Given the description of an element on the screen output the (x, y) to click on. 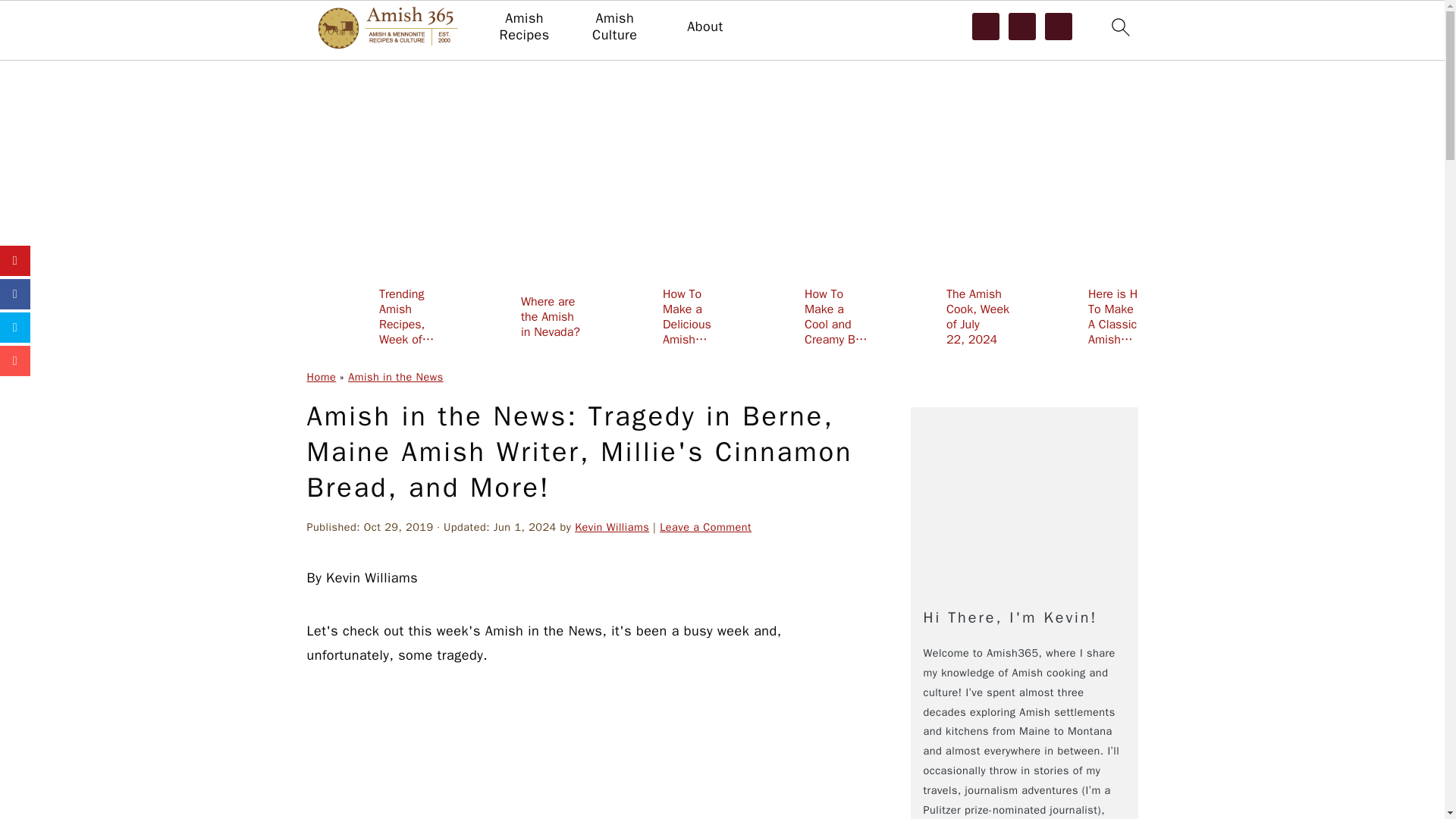
The Amish Cook, Week of July 16, 2024 (1367, 316)
Where are the Amish in Nevada? (516, 316)
Amish Recipes (523, 26)
The Amish Cook, Week of July 22, 2024 (941, 316)
Amish Culture (615, 26)
About (704, 27)
search icon (1119, 26)
How To Make a Delicious Amish Zucchini Summer Scramble (657, 316)
